Given the description of an element on the screen output the (x, y) to click on. 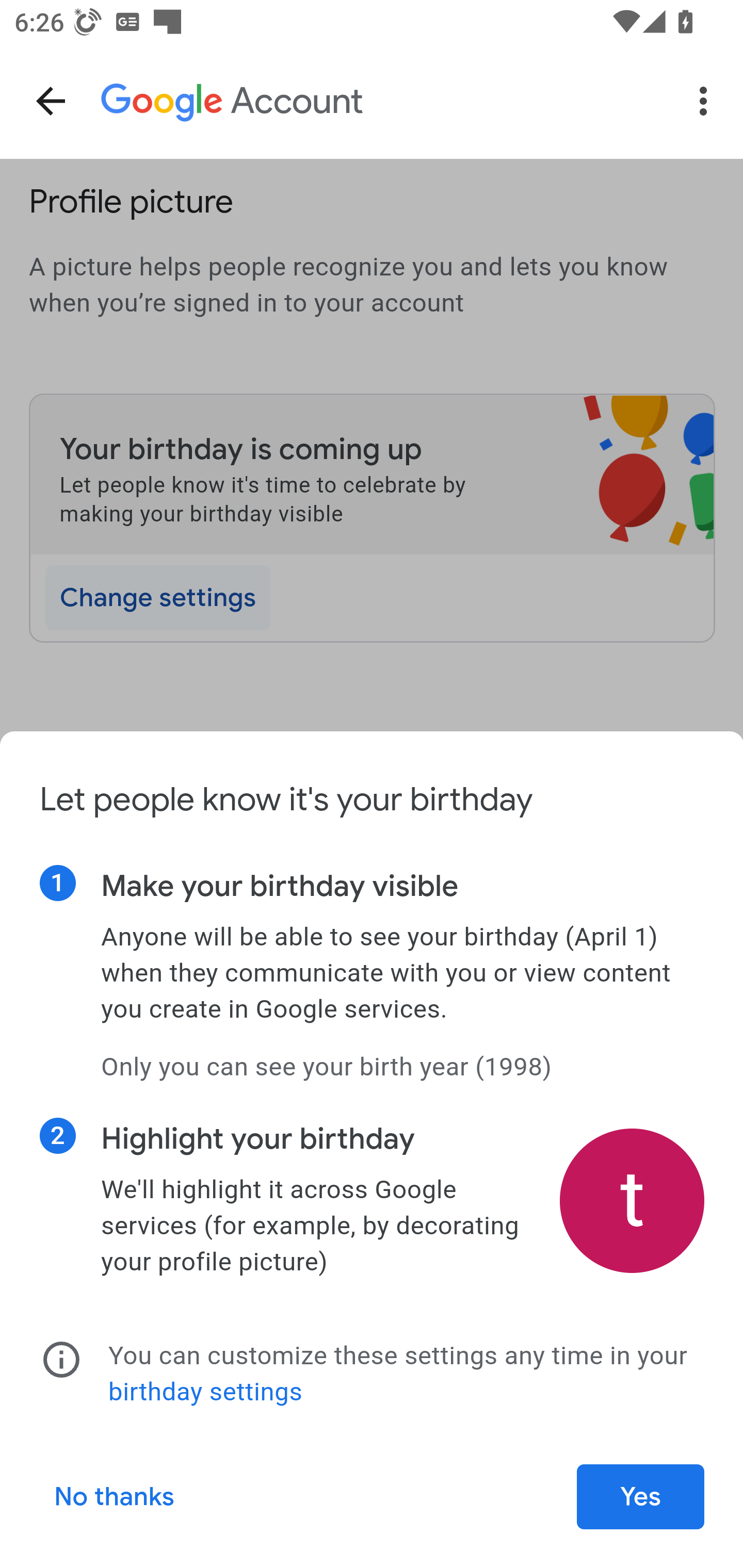
Navigate up (50, 101)
More options (706, 101)
birthday settings (205, 1391)
No thanks (114, 1496)
Yes (640, 1496)
